Given the description of an element on the screen output the (x, y) to click on. 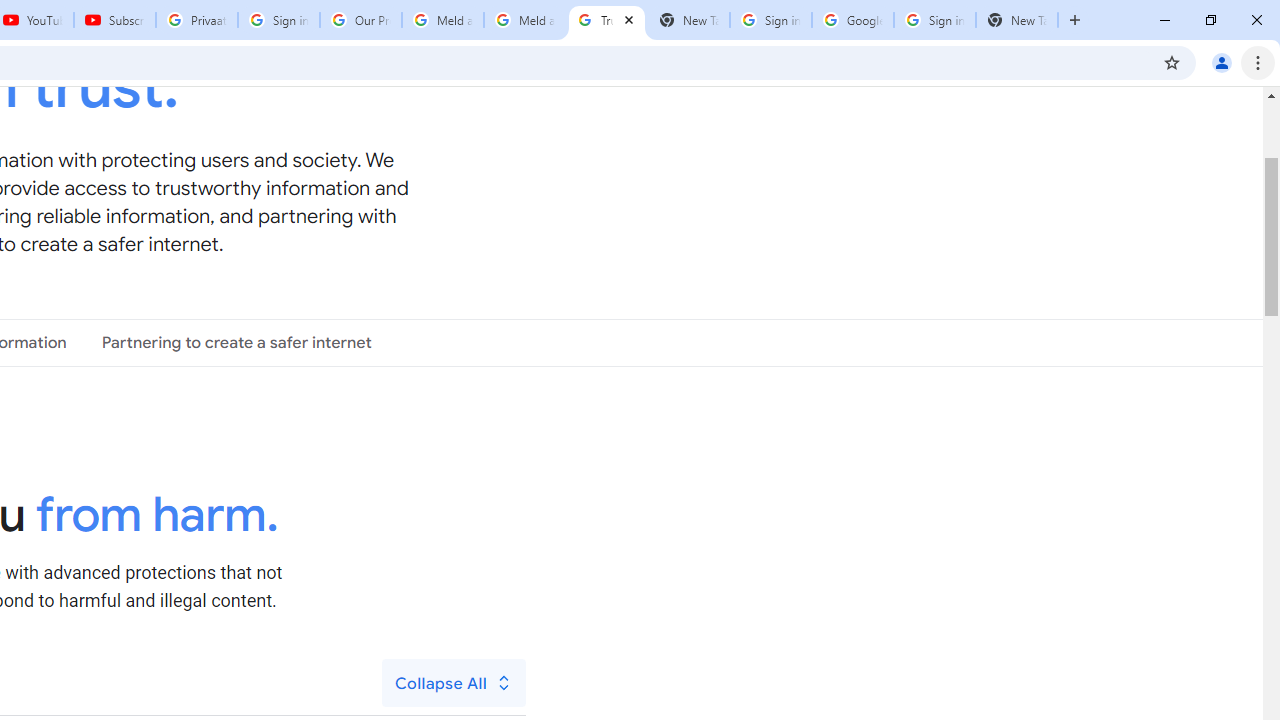
Partnering to create a safer internet (236, 343)
Sign in - Google Accounts (934, 20)
Sign in - Google Accounts (278, 20)
Google Cybersecurity Innovations - Google Safety Center (852, 20)
Collapse All (454, 682)
Sign in - Google Accounts (770, 20)
Trusted Information and Content - Google Safety Center (606, 20)
New Tab (1016, 20)
